Given the description of an element on the screen output the (x, y) to click on. 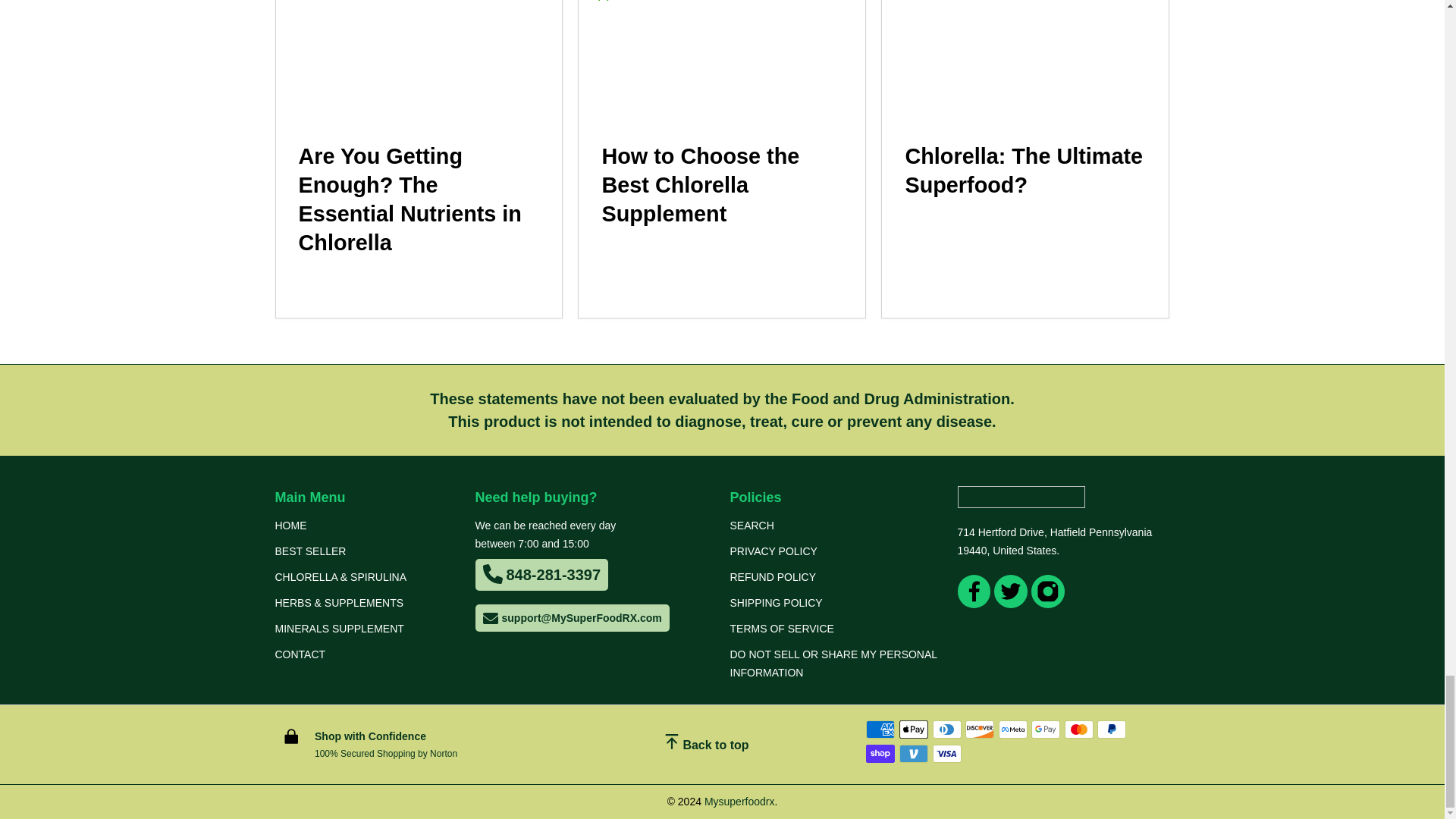
How to Choose the Best Chlorella Supplement (700, 185)
Apple Pay (913, 729)
BEST SELLER (310, 551)
Shop Pay (880, 753)
Chlorella: The Ultimate Superfood? (1025, 59)
Venmo (913, 753)
How to Choose the Best Chlorella Supplement (721, 59)
Mysuperfoodrx on Twitter (1010, 604)
Mastercard (1078, 729)
Diners Club (946, 729)
